Given the description of an element on the screen output the (x, y) to click on. 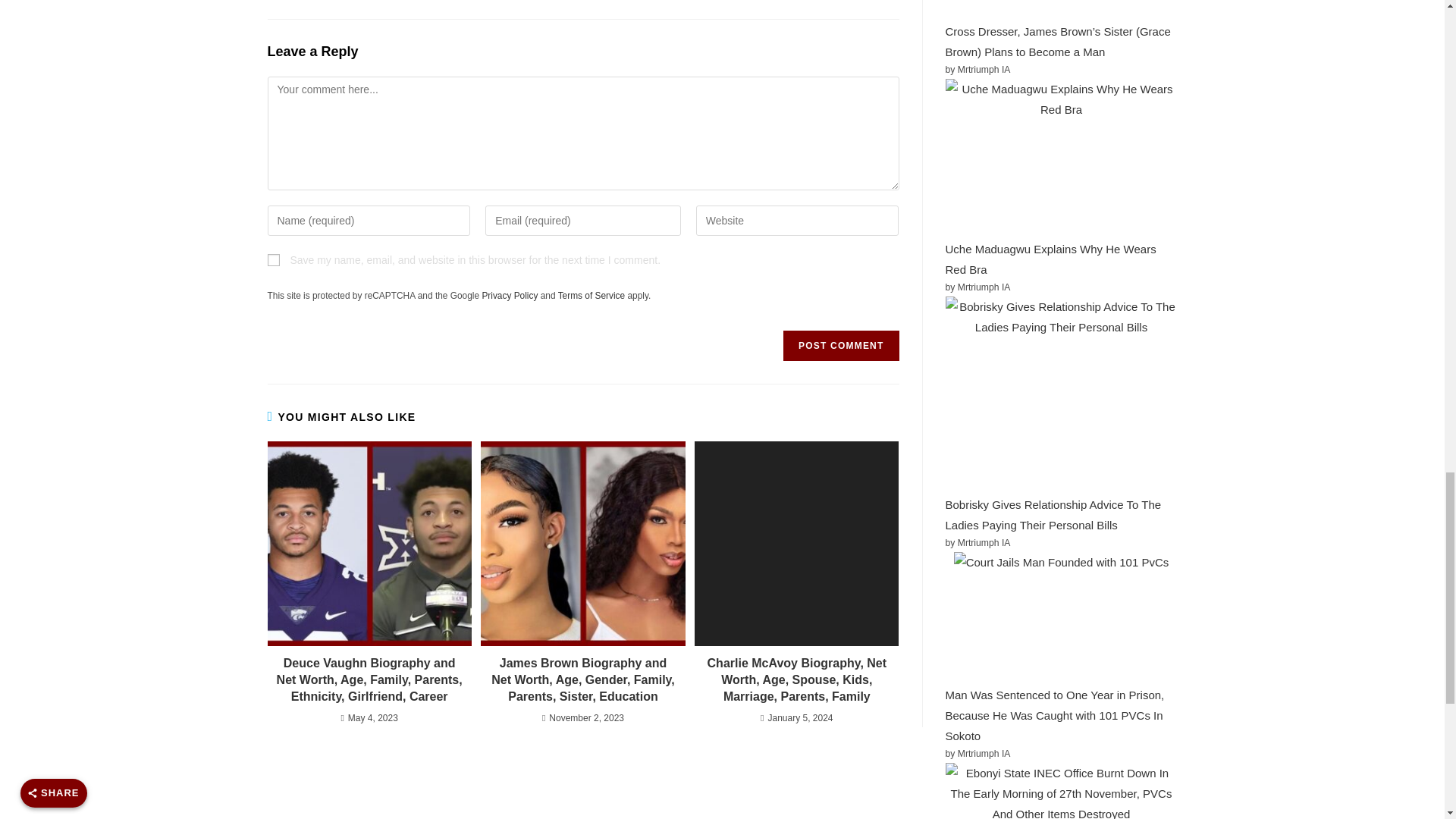
Privacy Policy (509, 295)
Post Comment (840, 345)
yes (272, 259)
